Given the description of an element on the screen output the (x, y) to click on. 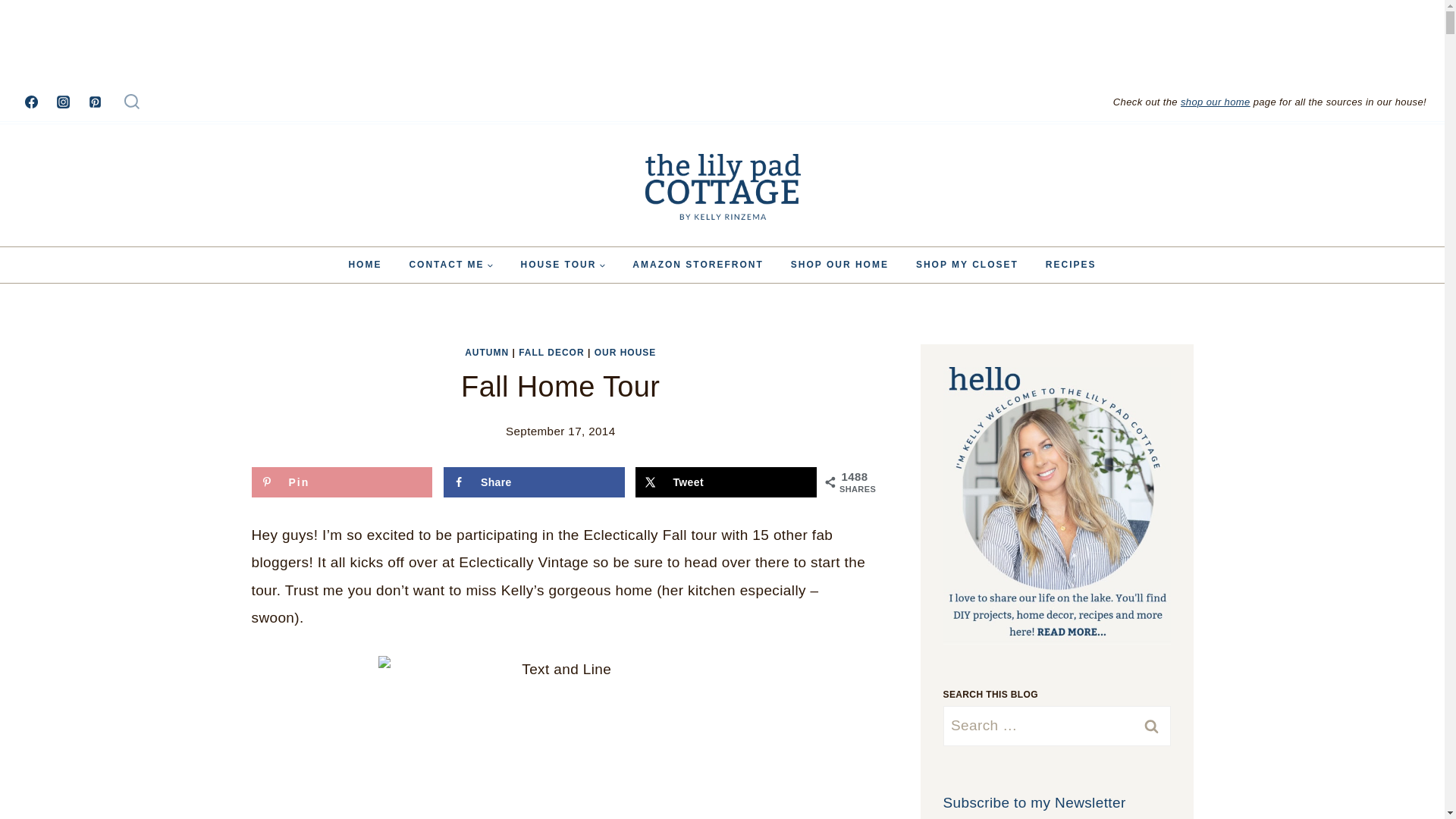
HOUSE TOUR (563, 264)
Share on Facebook (534, 481)
FALL DECOR (550, 352)
Save to Pinterest (341, 481)
Share (534, 481)
CONTACT ME (450, 264)
OUR HOUSE (625, 352)
SHOP OUR HOME (839, 264)
Tweet (725, 481)
Search (1056, 729)
